Given the description of an element on the screen output the (x, y) to click on. 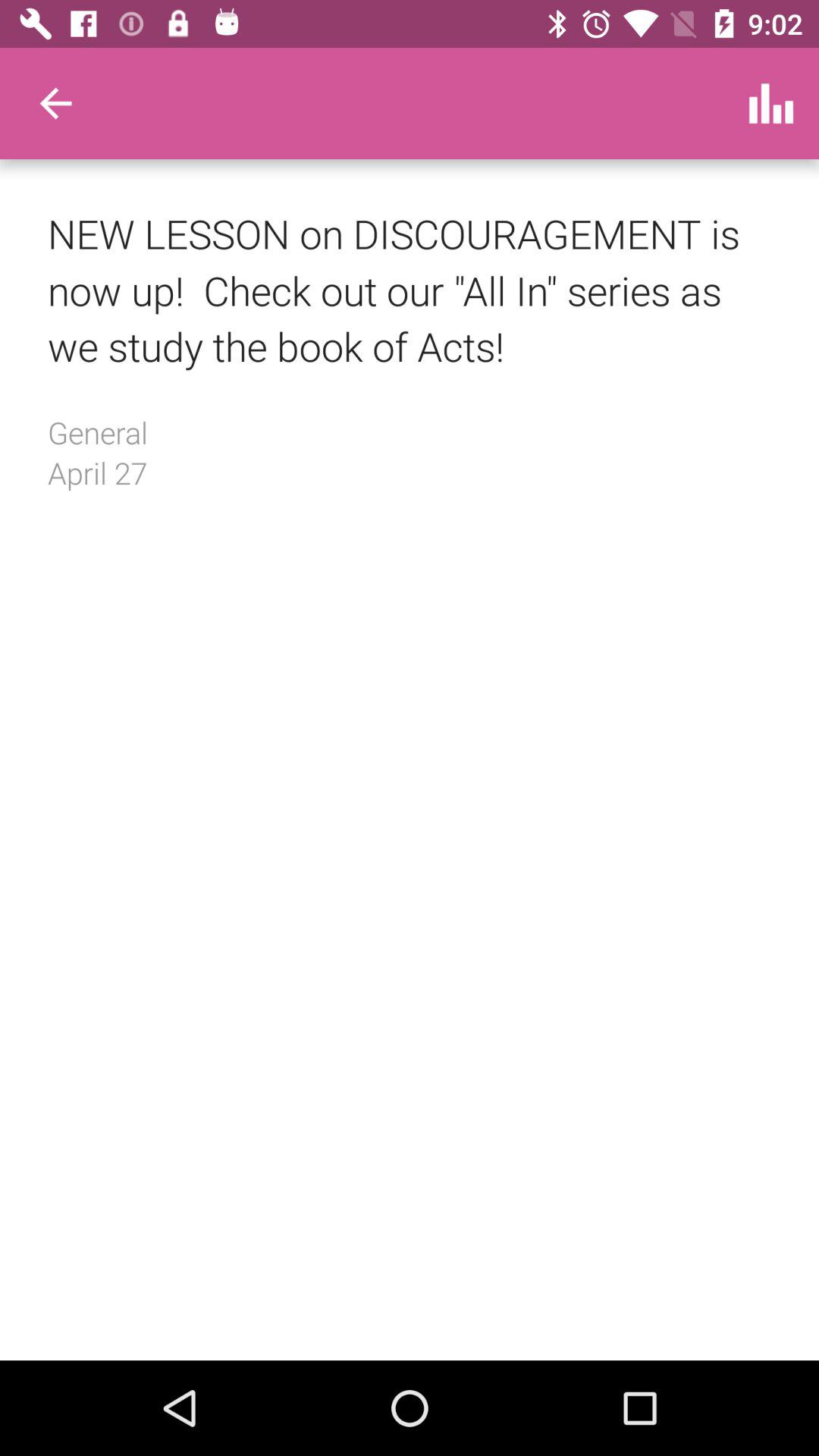
tap icon above the new lesson on (771, 103)
